Given the description of an element on the screen output the (x, y) to click on. 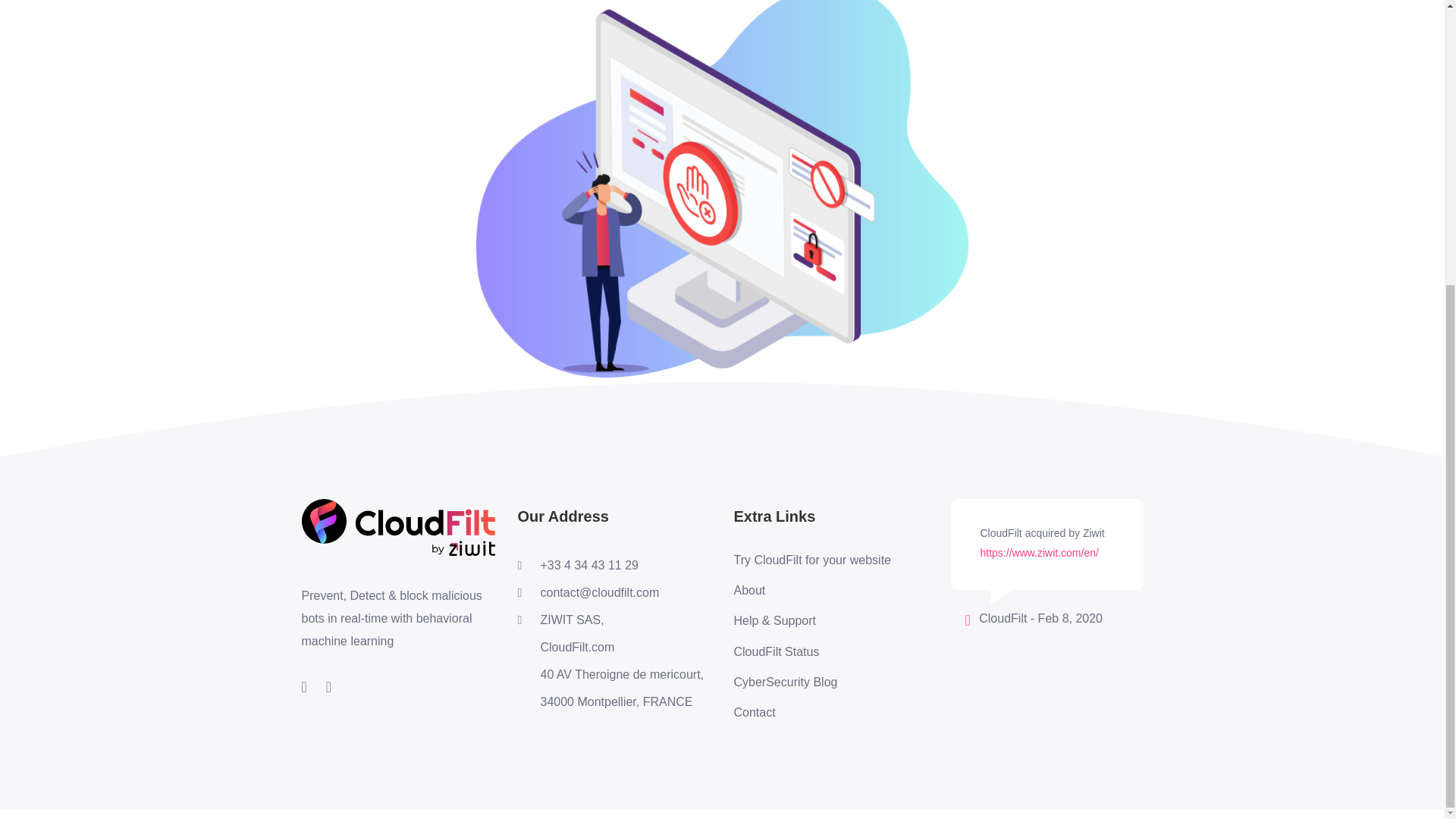
Try CloudFilt for your website (812, 559)
Contact (812, 712)
CyberSecurity Blog (812, 682)
About (812, 590)
CloudFilt Status (812, 651)
